Given the description of an element on the screen output the (x, y) to click on. 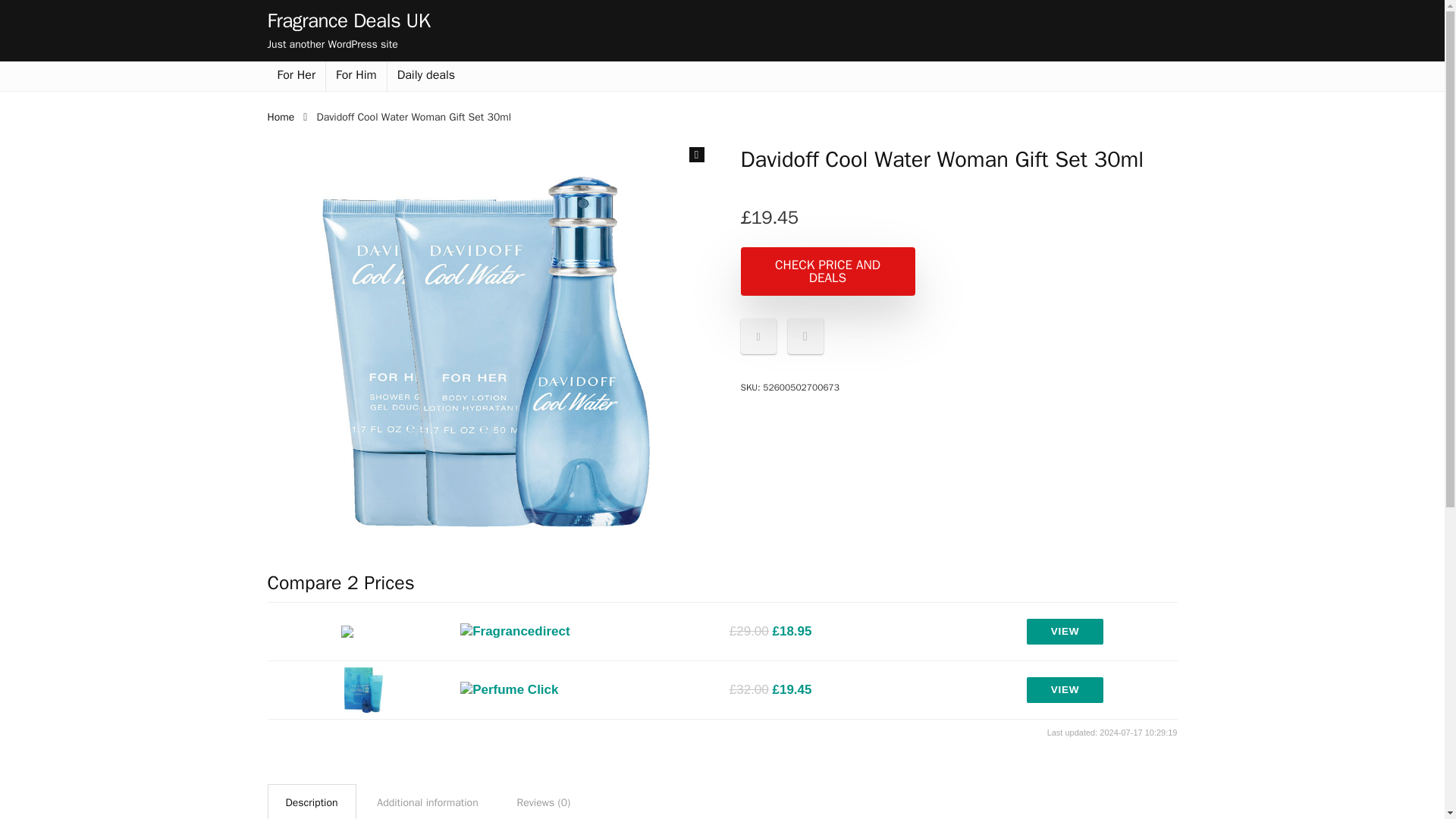
Additional information (427, 801)
Fragrancedirect (515, 631)
CHECK PRICE AND DEALS (826, 271)
Perfume Click (508, 689)
For Her (295, 76)
Description (310, 801)
Daily deals (425, 76)
For Him (356, 76)
Home (280, 116)
